Given the description of an element on the screen output the (x, y) to click on. 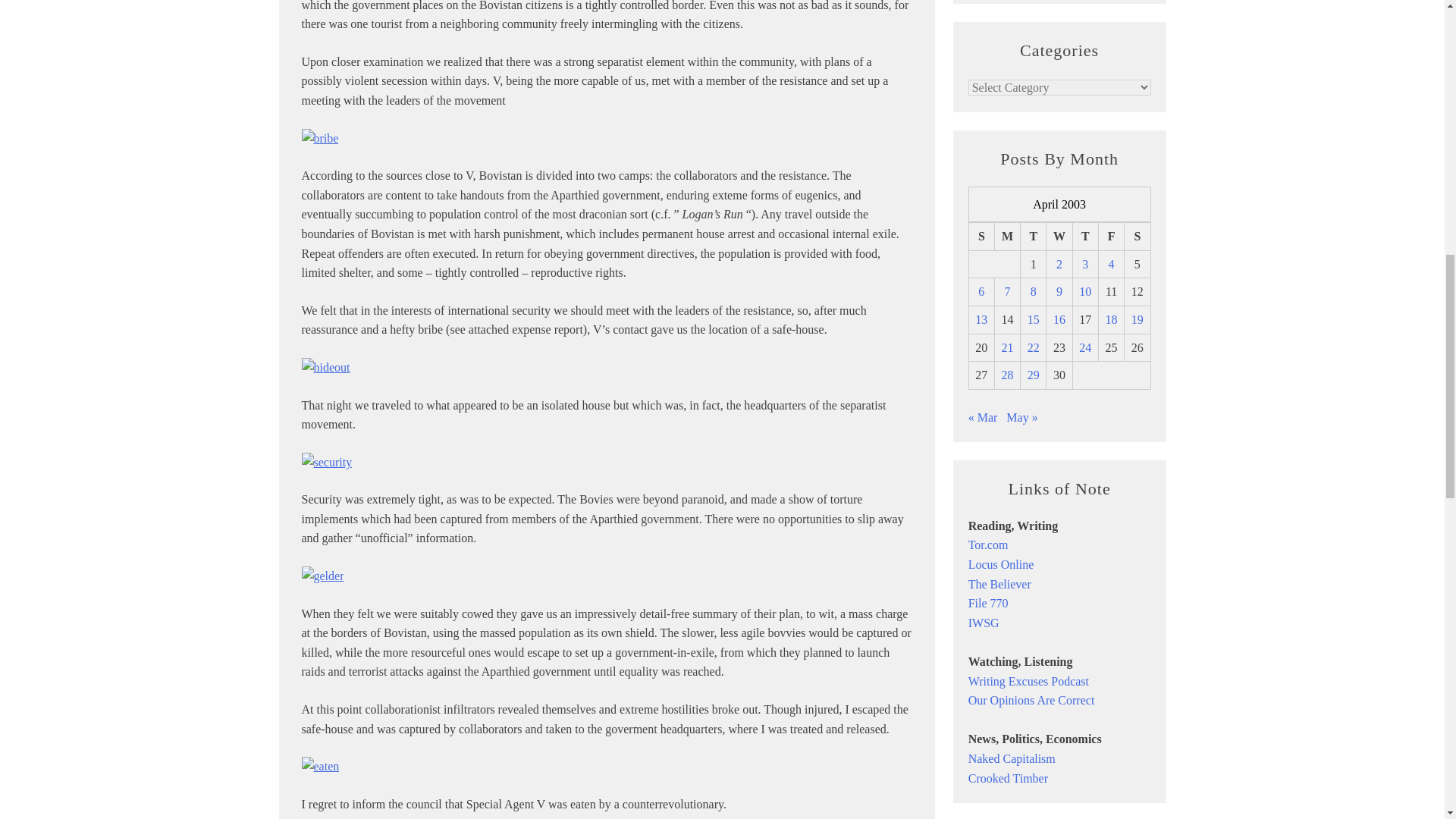
Thursday (1084, 236)
Sunday (981, 236)
21 (1007, 347)
hideout by John Winkelman, on Flickr (325, 367)
bribe by John Winkelman, on Flickr (320, 137)
18 (1111, 318)
security by John Winkelman, on Flickr (326, 461)
10 (1084, 291)
16 (1058, 318)
13 (981, 318)
